Given the description of an element on the screen output the (x, y) to click on. 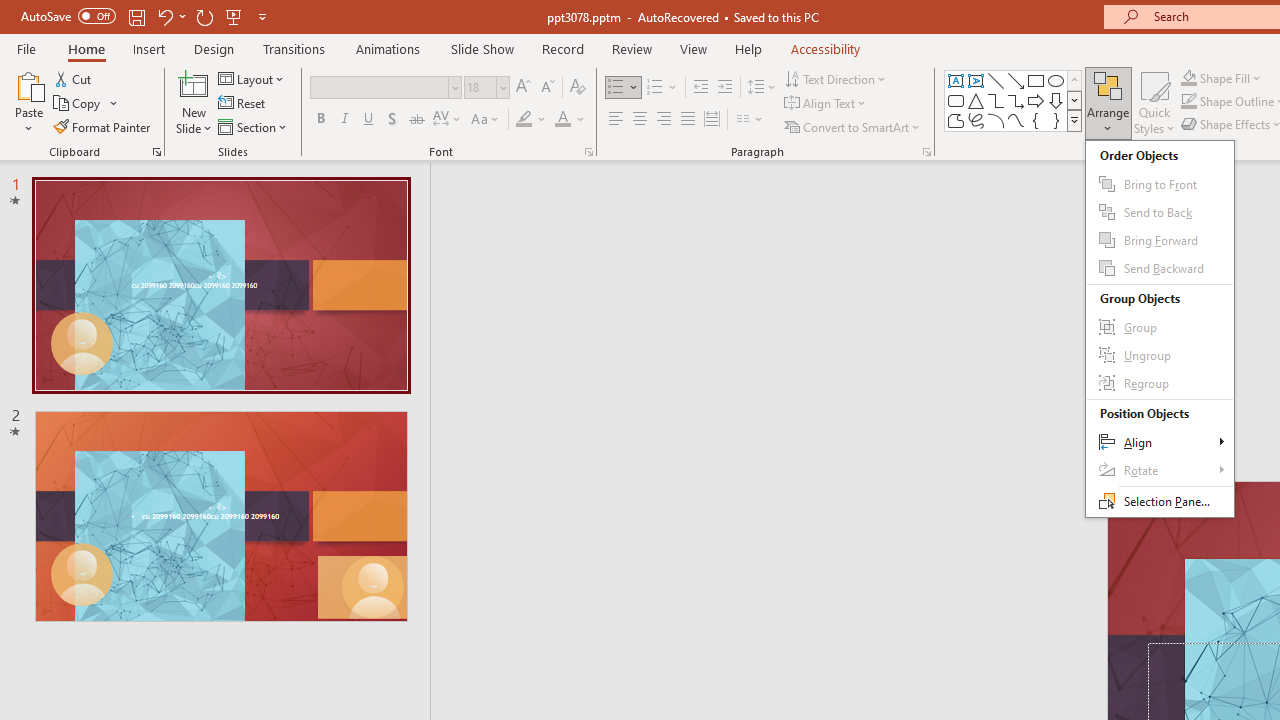
Change Case (486, 119)
Shadow (392, 119)
Align Left (616, 119)
Arc (995, 120)
Shapes (1074, 120)
Columns (750, 119)
Text Highlight Color Yellow (524, 119)
Text Box (955, 80)
